Given the description of an element on the screen output the (x, y) to click on. 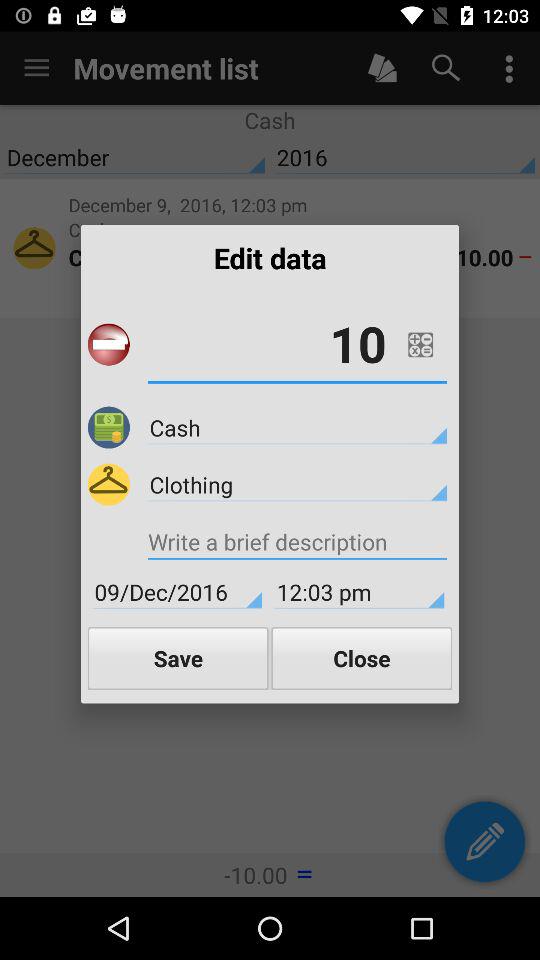
edit number (420, 344)
